Given the description of an element on the screen output the (x, y) to click on. 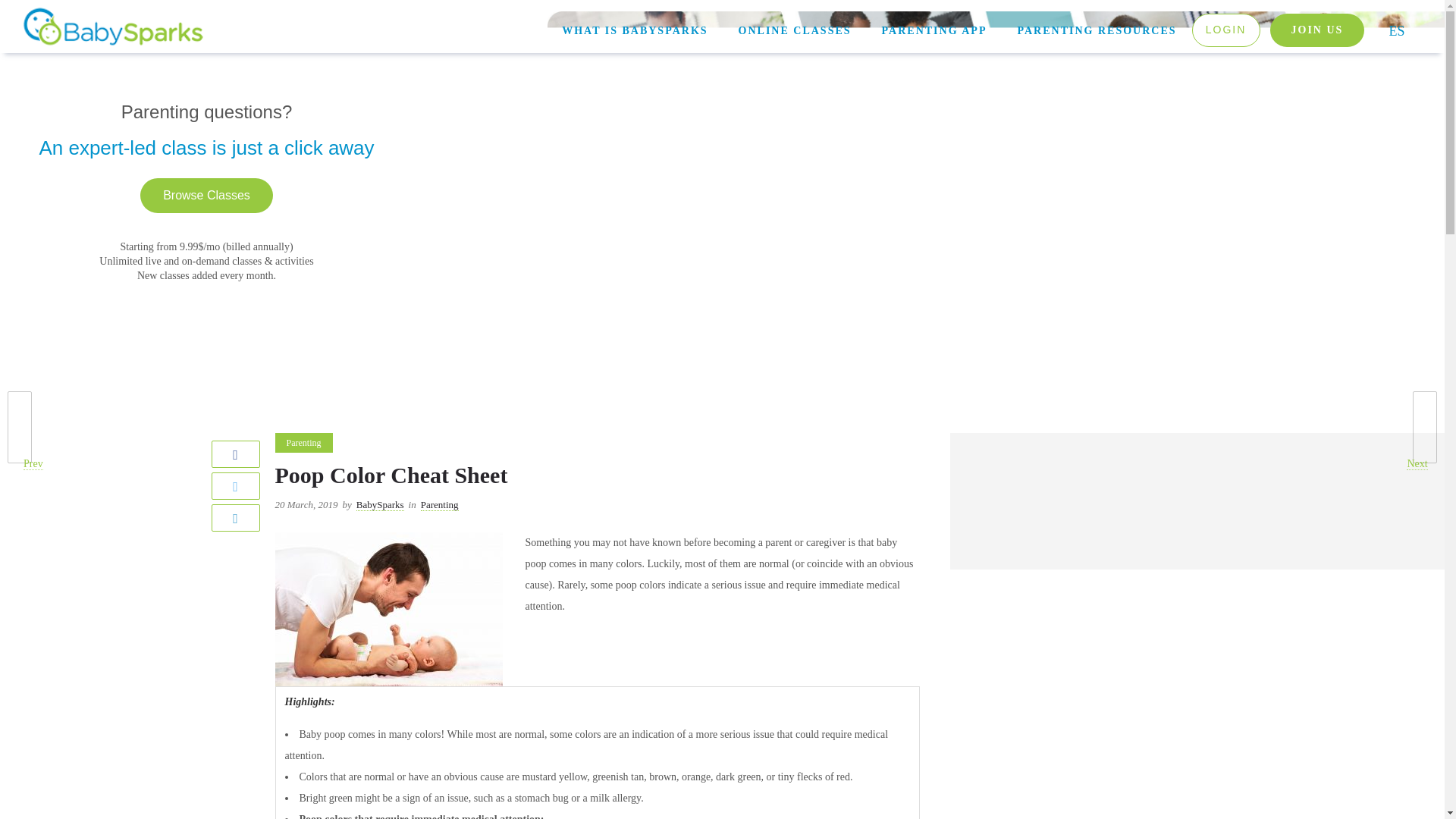
JOIN US (1317, 29)
Parenting (439, 505)
LOGIN (1226, 29)
Prev (12, 427)
ES (1396, 30)
WHAT IS BABYSPARKS (634, 30)
BabySparks (380, 505)
ONLINE CLASSES (794, 30)
PARENTING APP (934, 30)
Parenting (303, 442)
program (1317, 29)
Browse Classes (206, 194)
PARENTING RESOURCES (1096, 30)
